Given the description of an element on the screen output the (x, y) to click on. 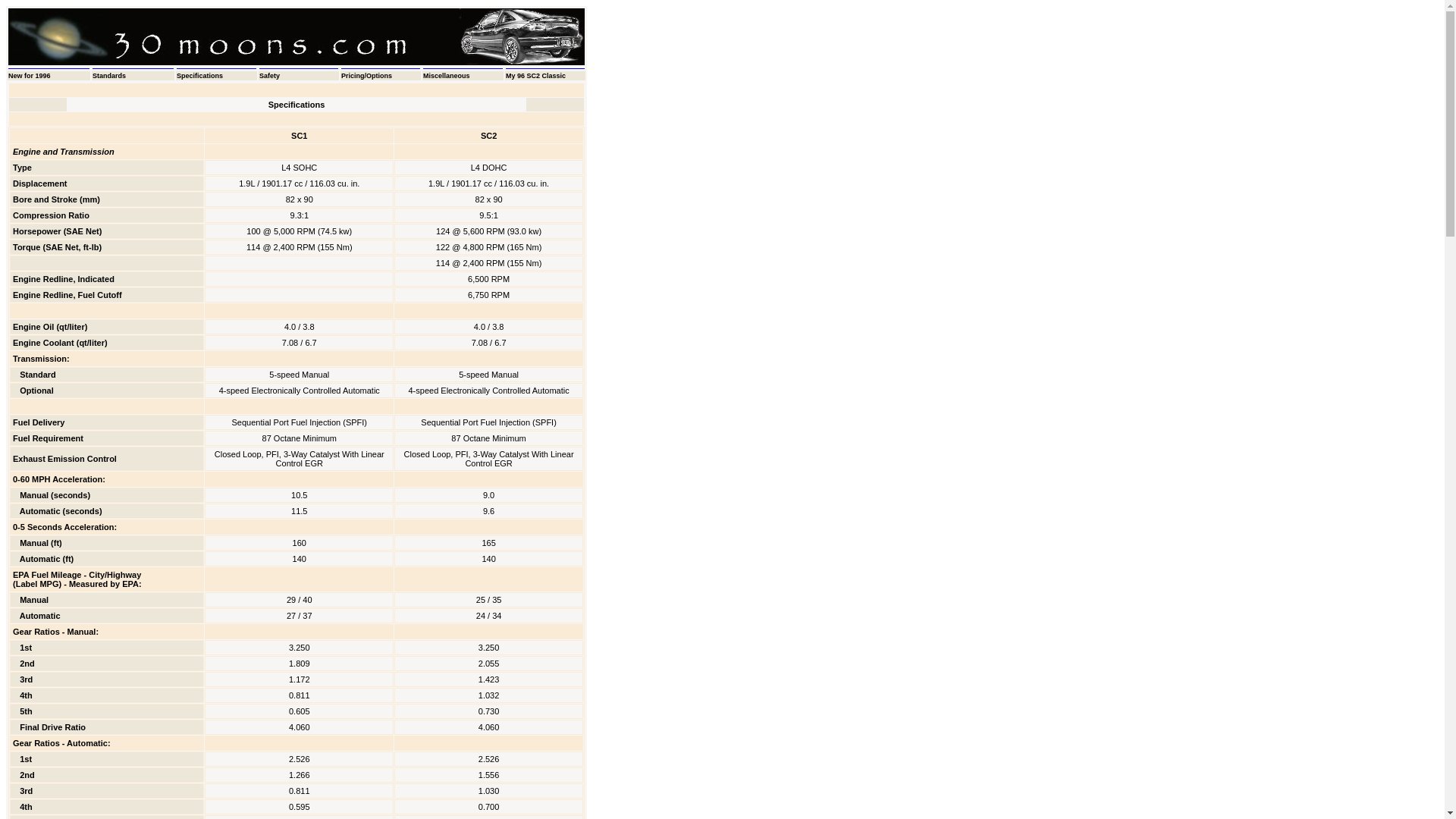
Specifications Element type: text (199, 75)
Safety Element type: text (269, 75)
Engine and Transmission Element type: text (63, 151)
New for 1996 Element type: text (29, 75)
Pricing/Options Element type: text (366, 75)
My 96 SC2 Classic Element type: text (535, 75)
Miscellaneous Element type: text (446, 75)
Standards Element type: text (108, 75)
